Given the description of an element on the screen output the (x, y) to click on. 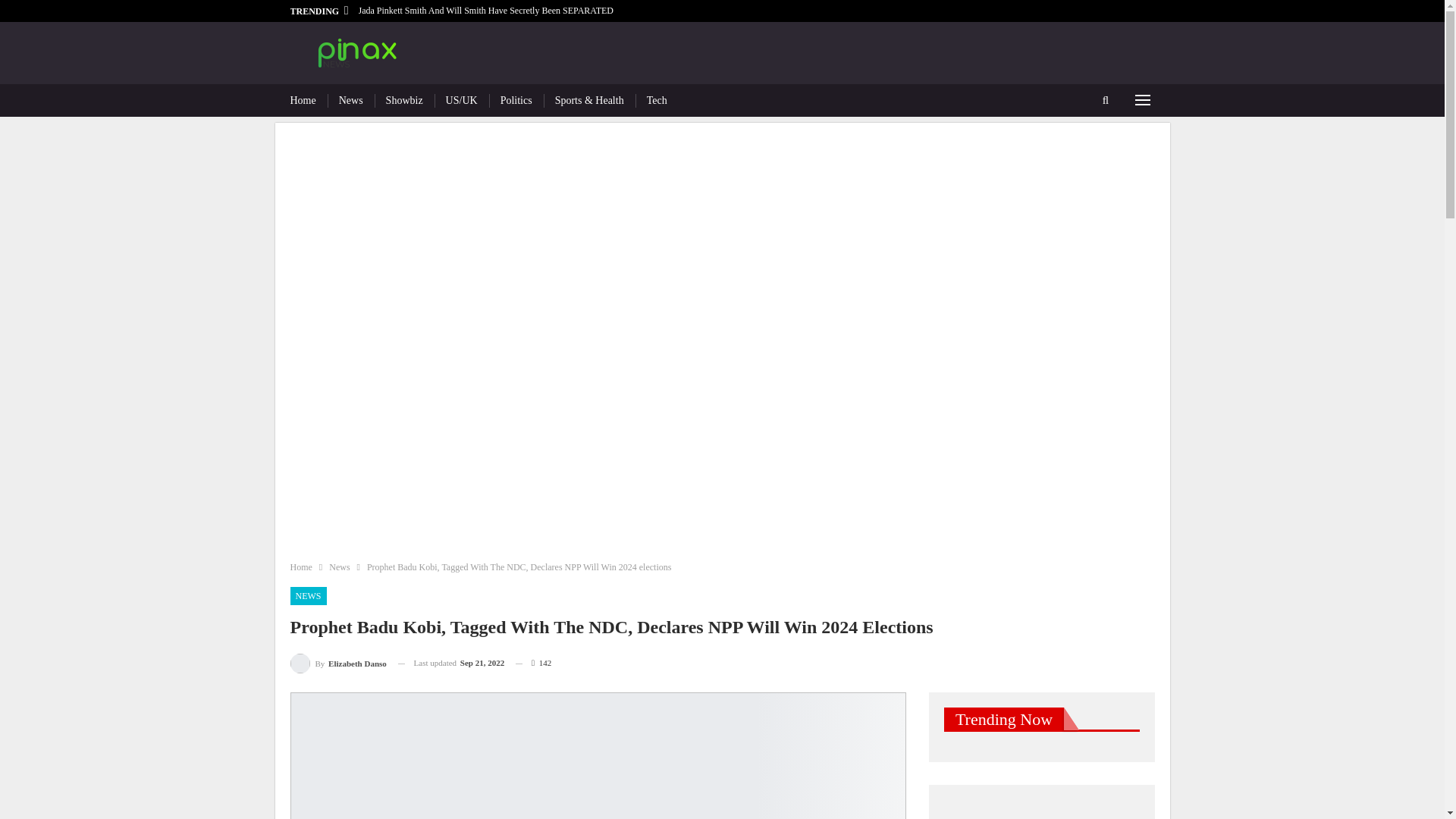
Browse Author Articles (337, 662)
Politics (516, 100)
Showbiz (404, 100)
Home (300, 566)
By Elizabeth Danso (337, 662)
NEWS (307, 596)
News (339, 566)
